Given the description of an element on the screen output the (x, y) to click on. 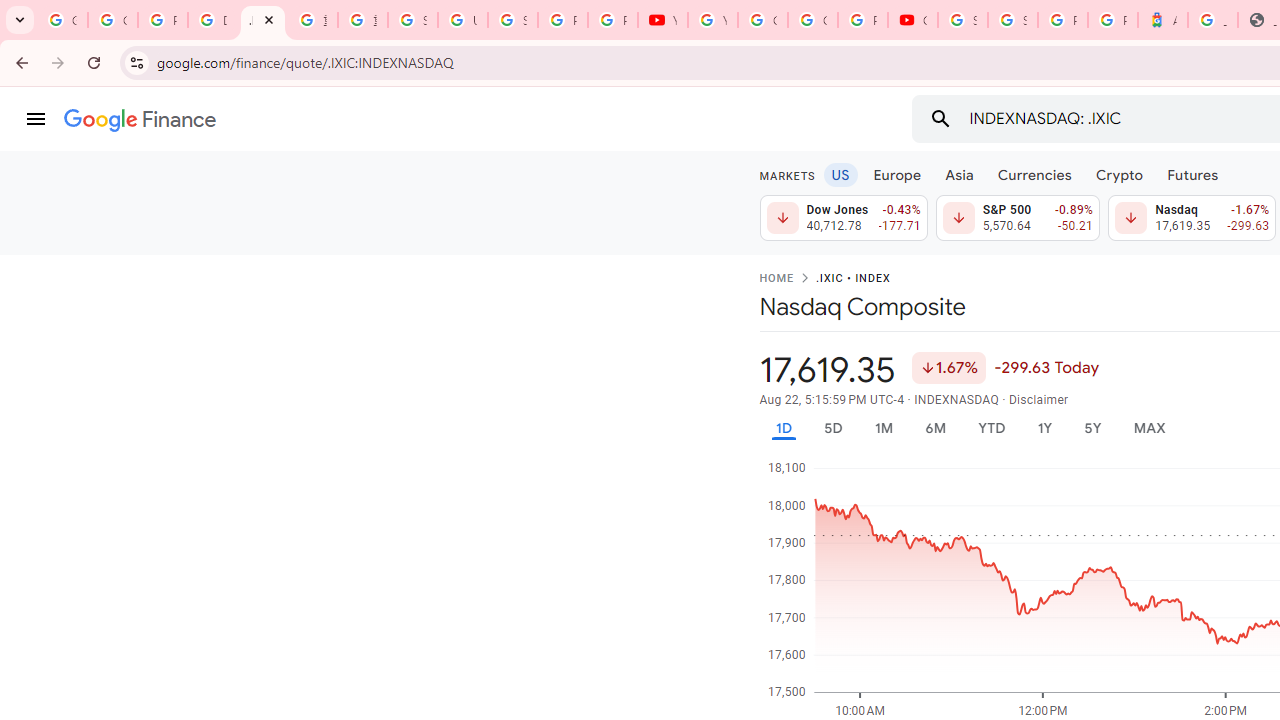
Sign in - Google Accounts (512, 20)
5D (832, 427)
HOME (776, 279)
Sign in - Google Accounts (412, 20)
Dow Jones 40,712.78 Down by 0.43% -177.71 (843, 218)
6M (934, 427)
